Given the description of an element on the screen output the (x, y) to click on. 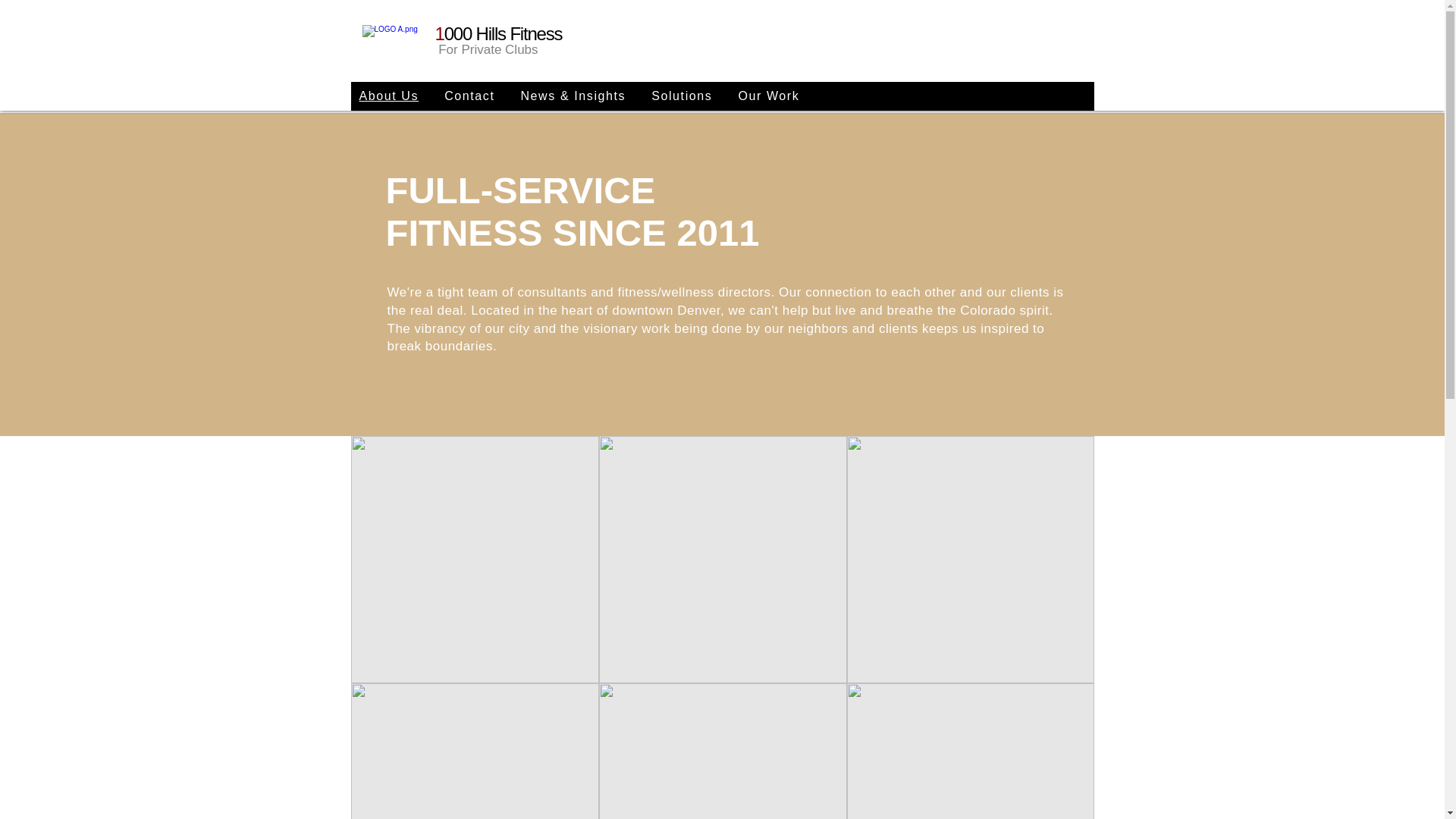
1000 Hills Fitness (400, 42)
Our Work (768, 95)
Contact (468, 95)
1000 Hills Fitness (498, 33)
 For Private Clubs (486, 49)
About Us (388, 95)
Solutions (681, 95)
